Given the description of an element on the screen output the (x, y) to click on. 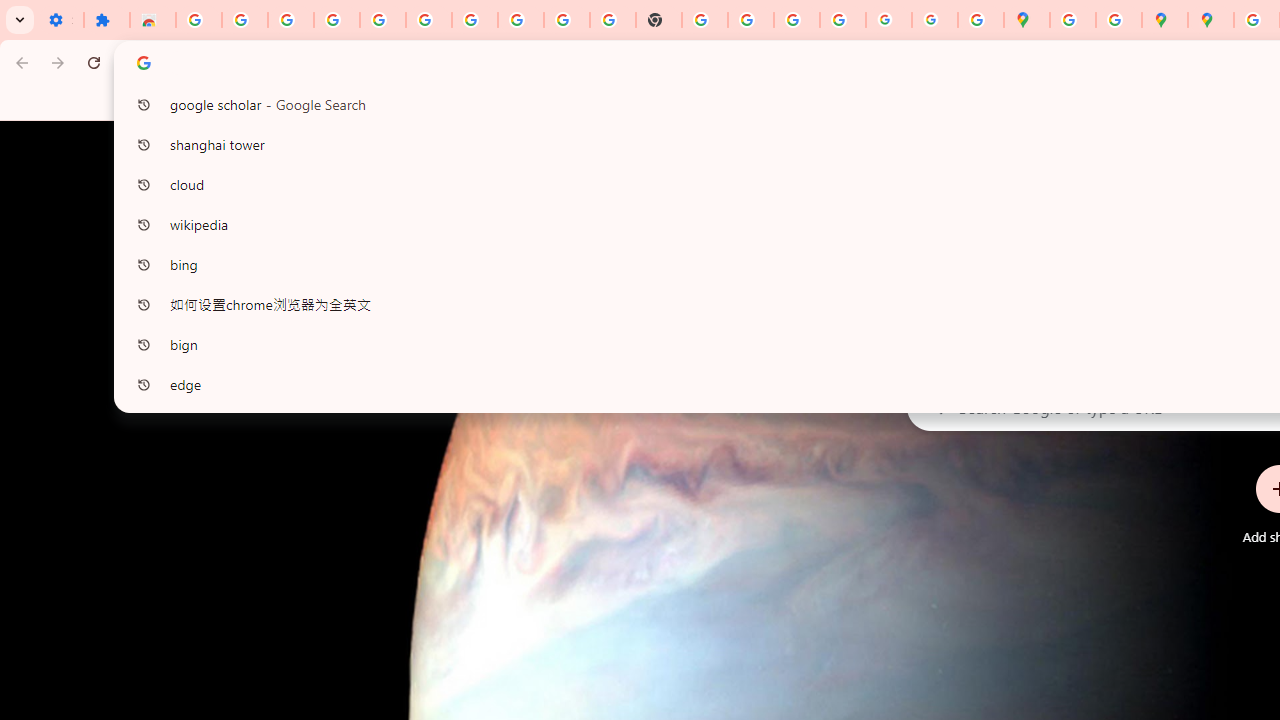
Google Maps (1026, 20)
YouTube (567, 20)
Reviews: Helix Fruit Jump Arcade Game (153, 20)
